Given the description of an element on the screen output the (x, y) to click on. 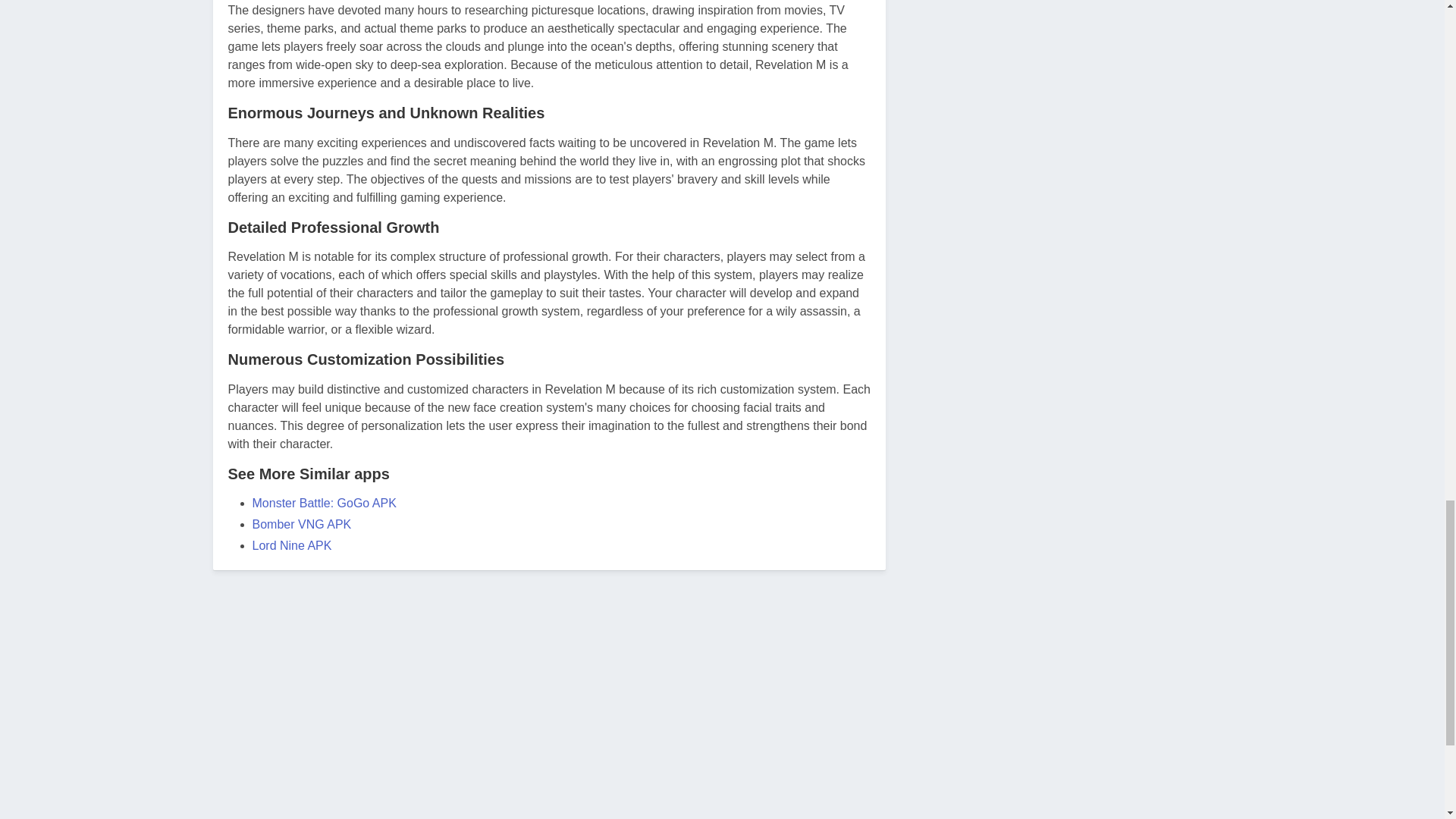
Lord Nine APK (291, 545)
Monster Battle: GoGo APK (323, 502)
Bomber VNG APK (300, 523)
